Given the description of an element on the screen output the (x, y) to click on. 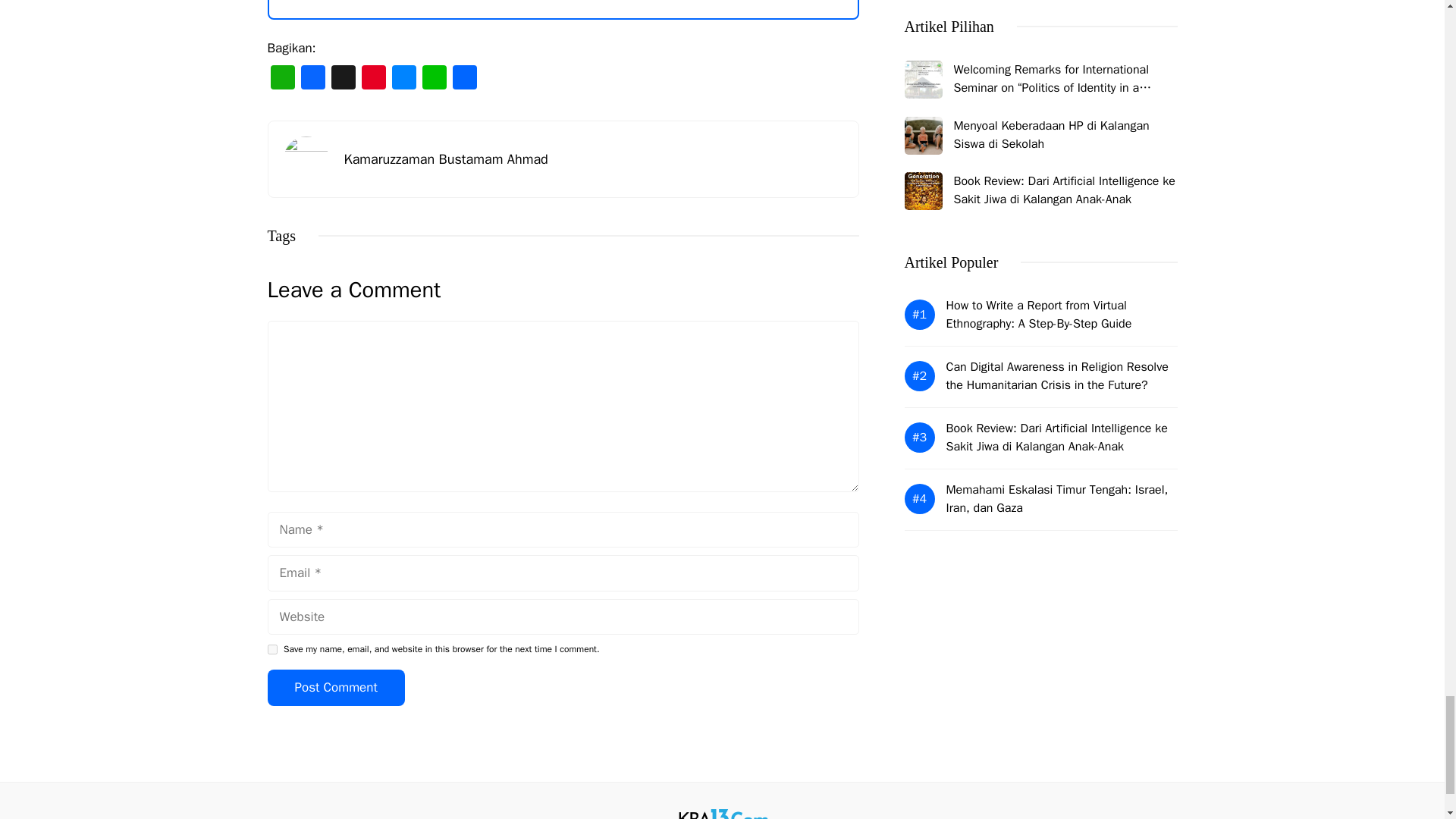
yes (271, 649)
Post Comment (335, 687)
